Given the description of an element on the screen output the (x, y) to click on. 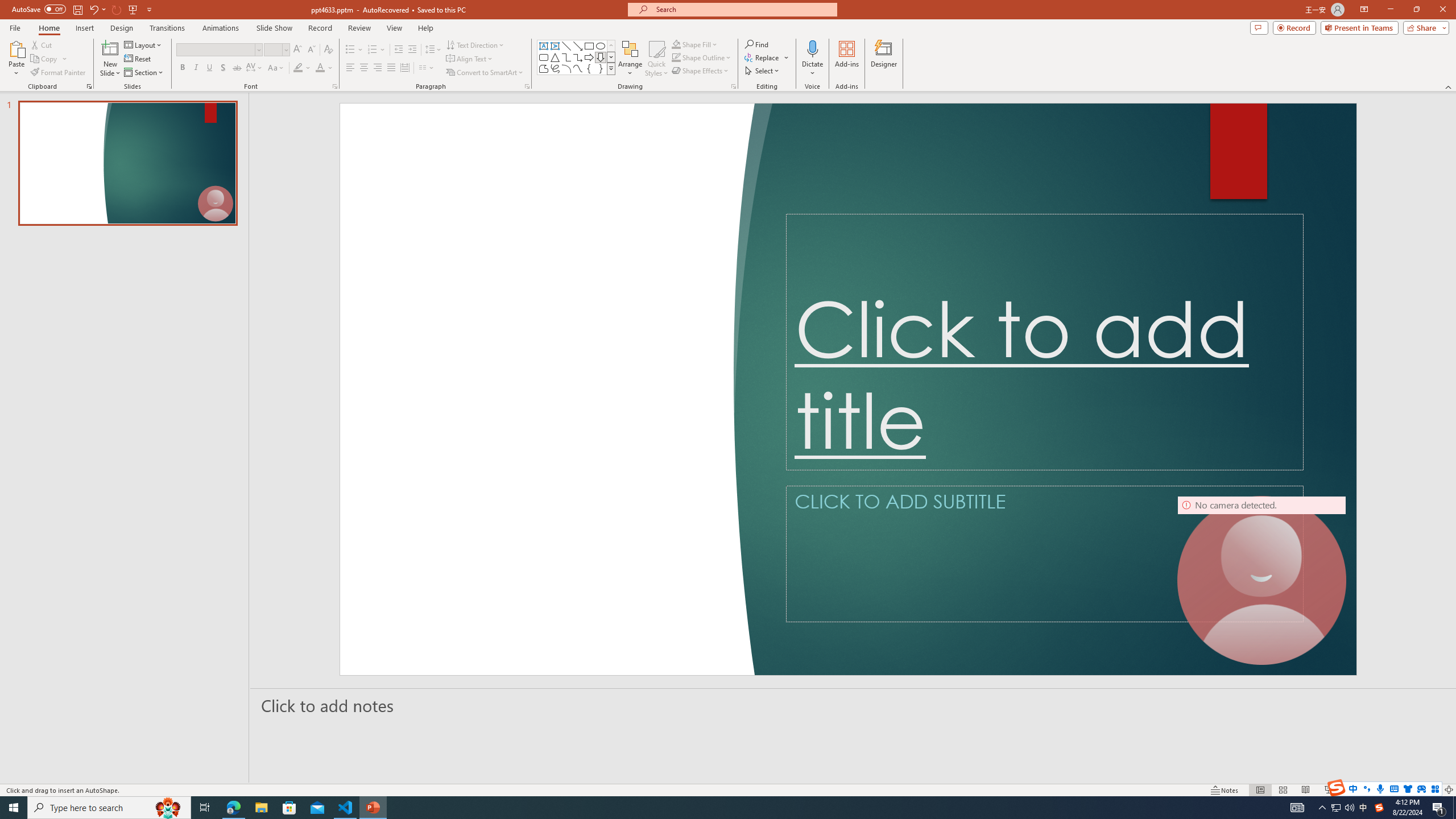
Zoom 140% (1430, 790)
